Given the description of an element on the screen output the (x, y) to click on. 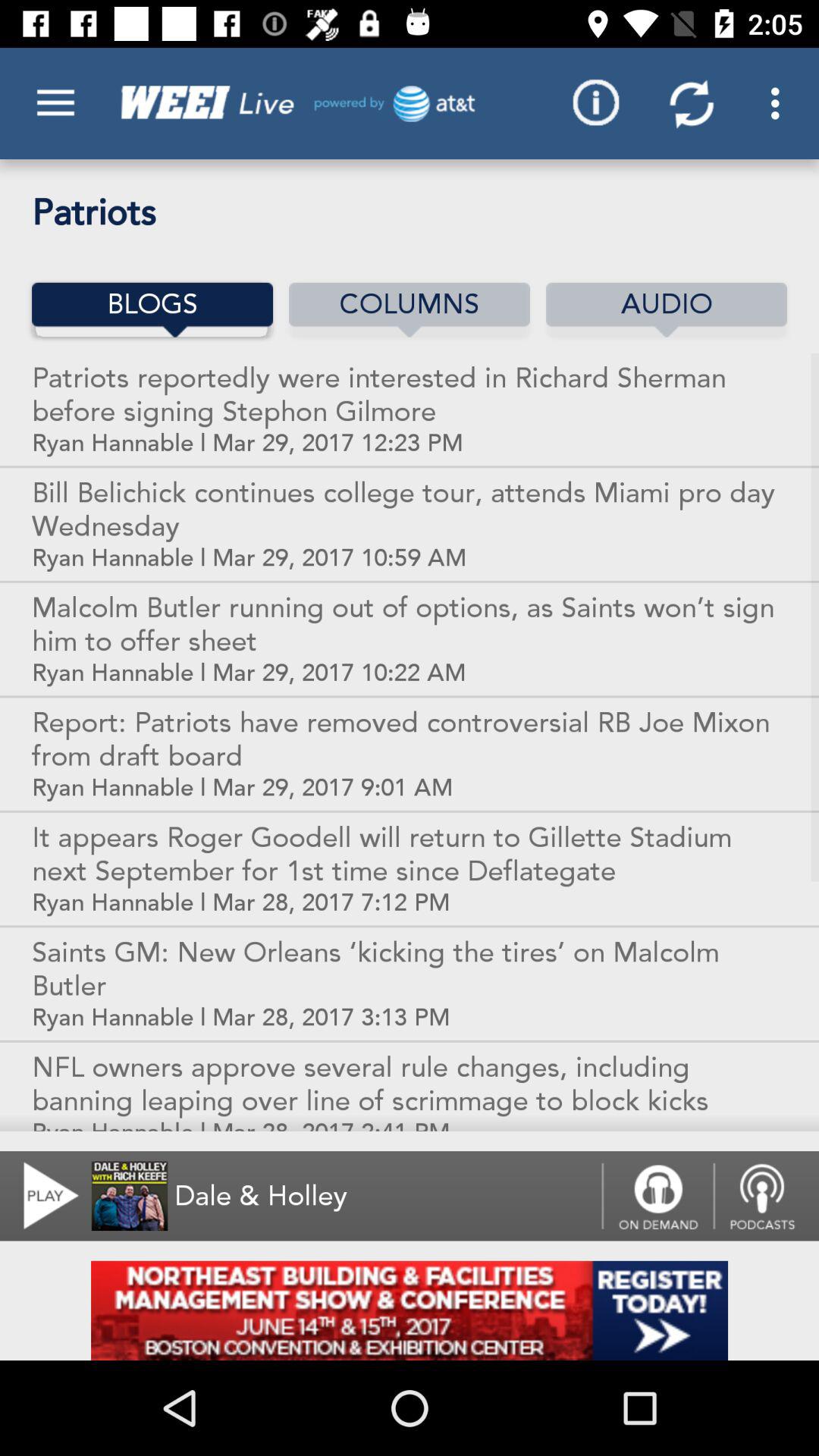
view advertisement (409, 1310)
